Given the description of an element on the screen output the (x, y) to click on. 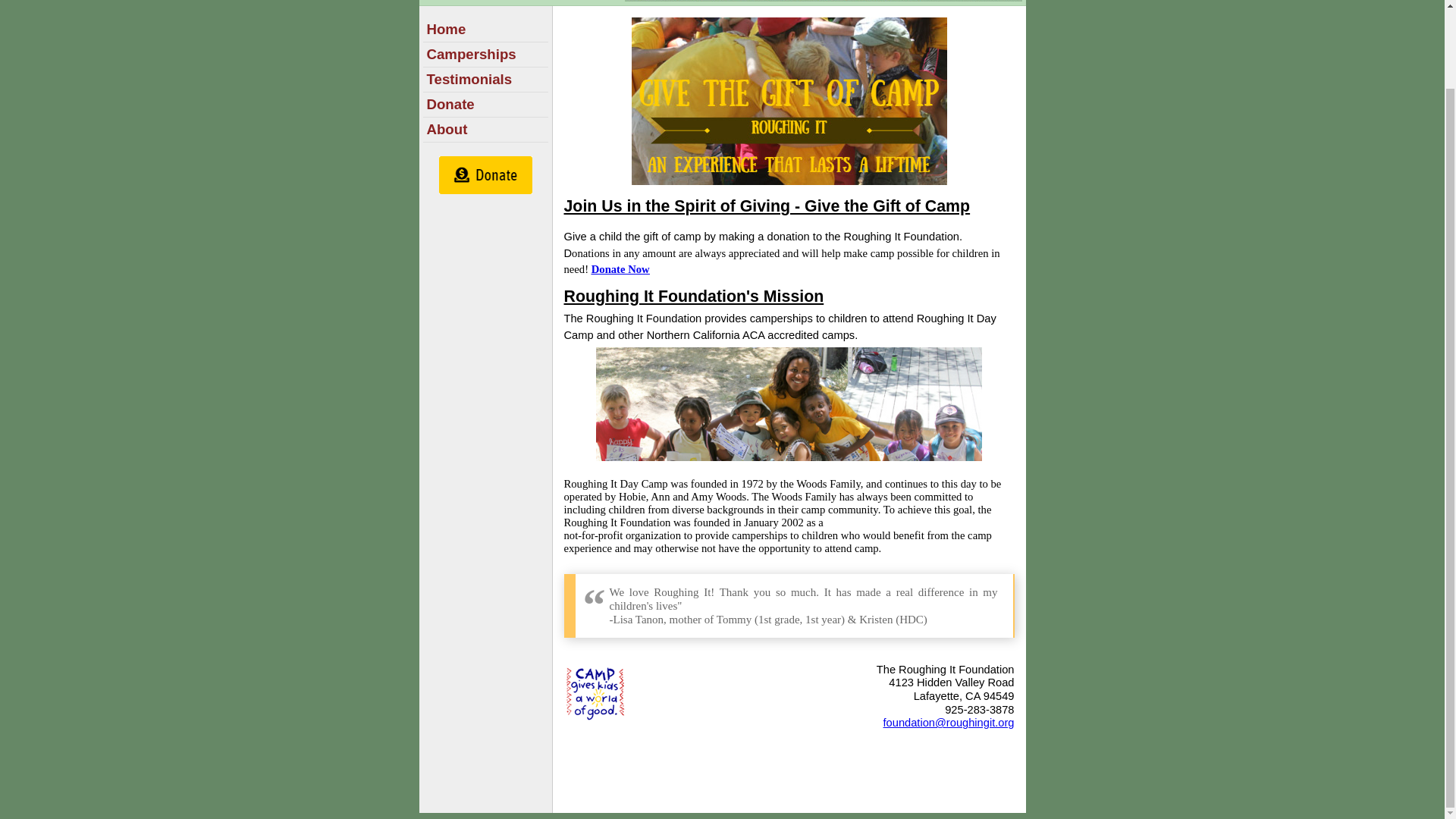
Donate Now (620, 268)
Donate (450, 104)
About (446, 129)
PayPal - The safer, easier way to pay online! (485, 175)
Camperships (470, 53)
Home (445, 28)
Testimonials (469, 78)
